Given the description of an element on the screen output the (x, y) to click on. 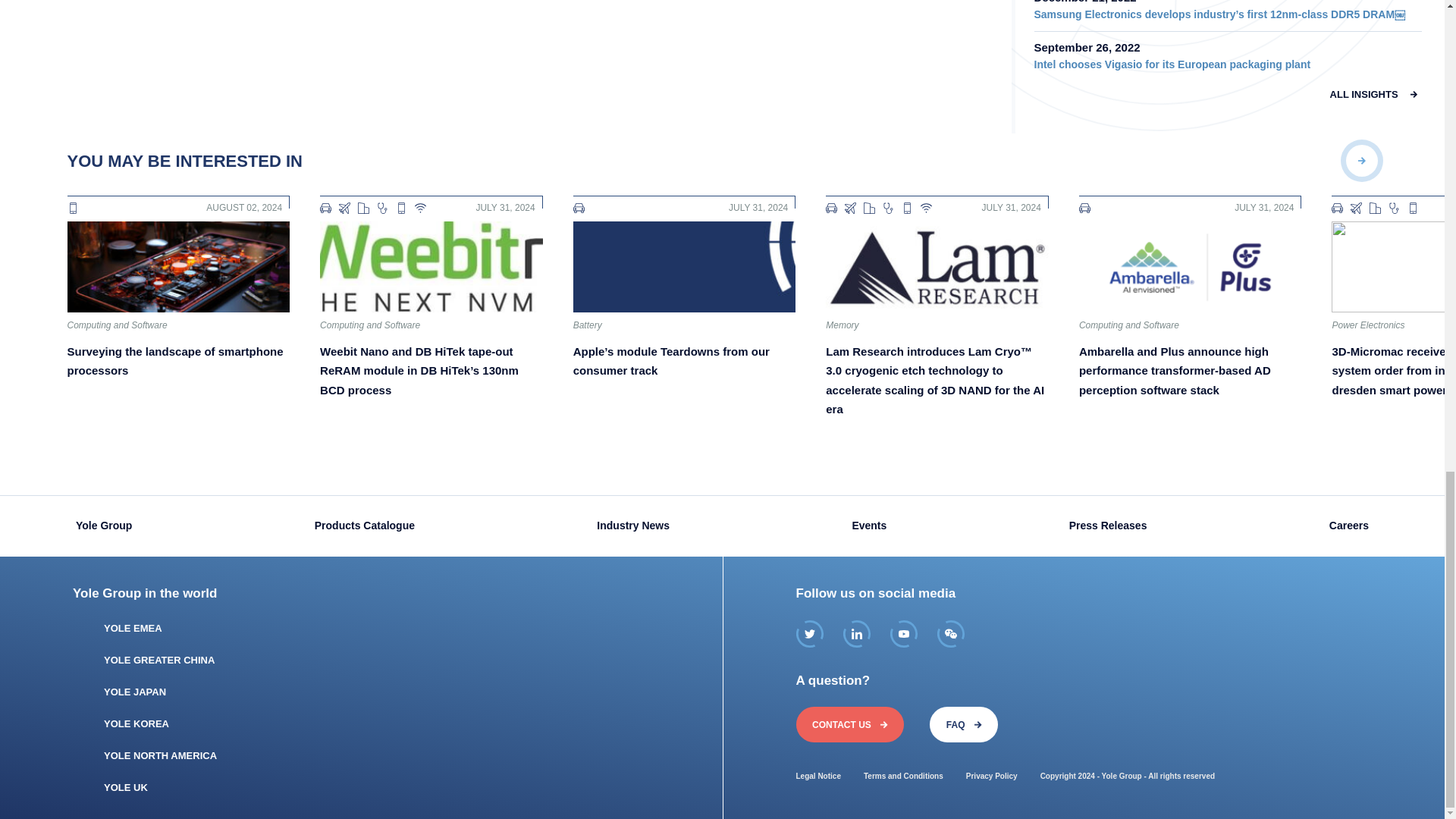
Follow us on youtube (903, 633)
Follow us on linkedin (856, 633)
Follow us on wechat (950, 633)
Follow us on twitter (810, 633)
